Given the description of an element on the screen output the (x, y) to click on. 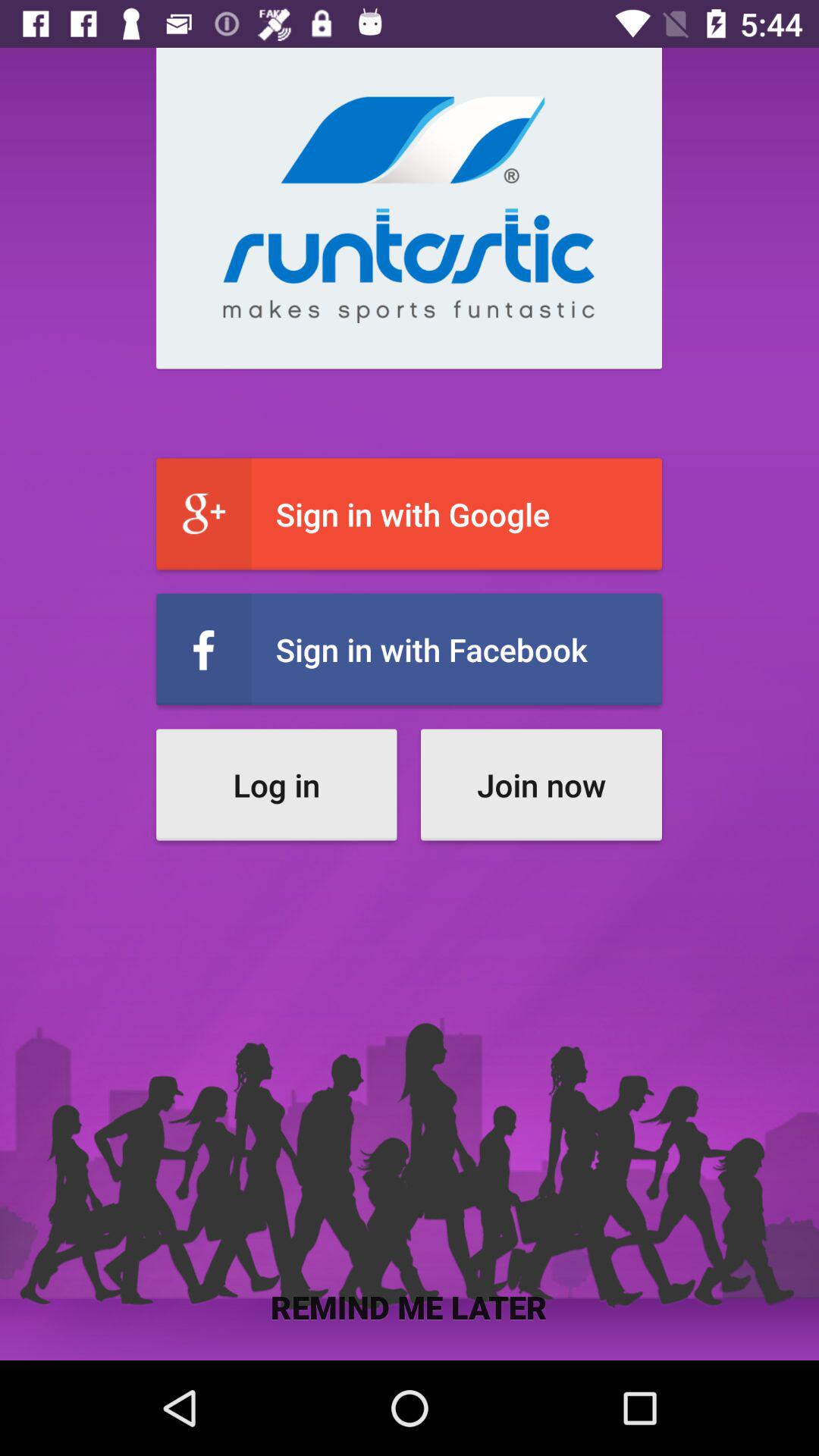
scroll to join now button (541, 784)
